Given the description of an element on the screen output the (x, y) to click on. 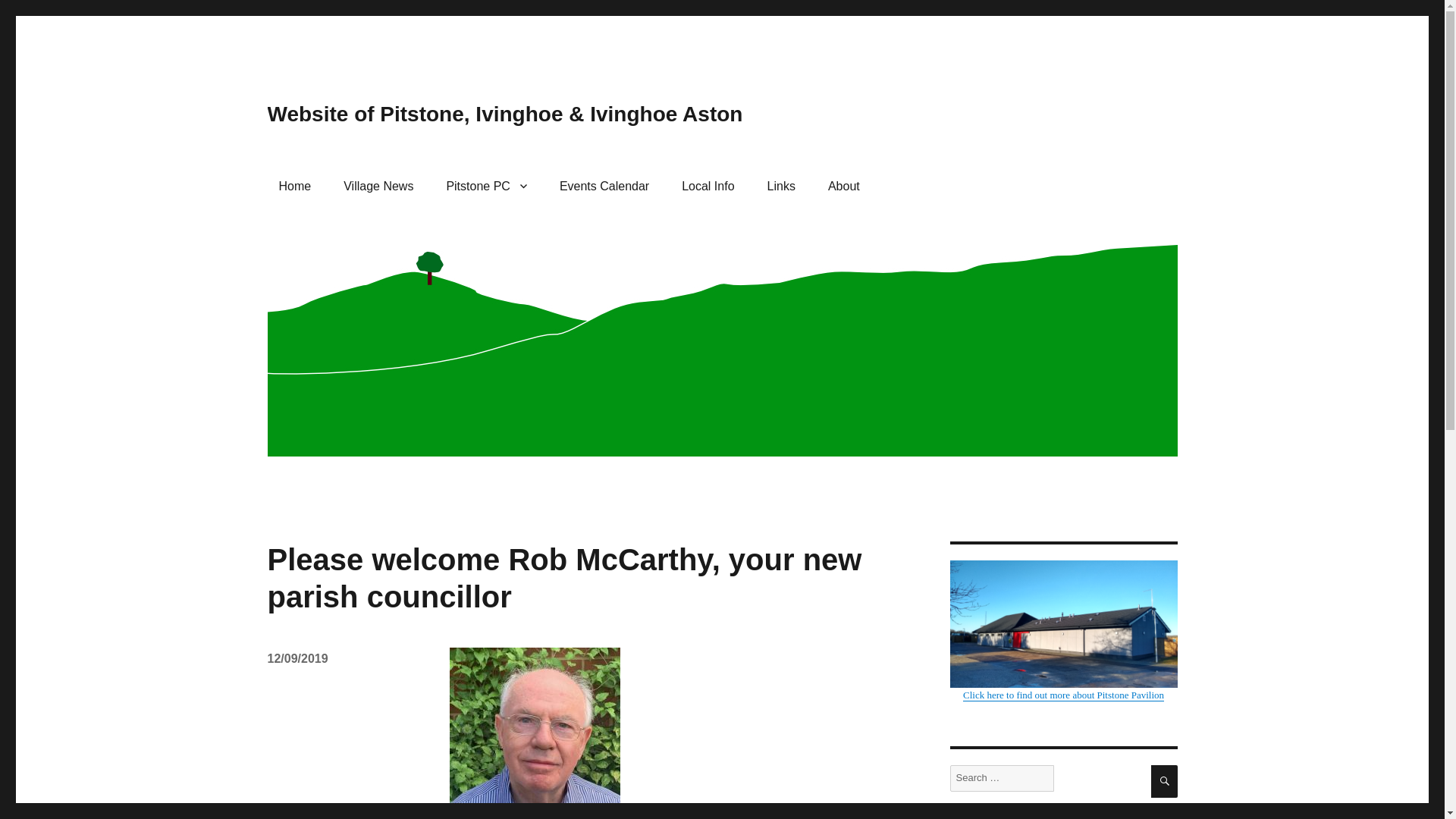
Pitstone Parish Council (486, 185)
Links (781, 185)
About (843, 185)
Click here to find out more about Pitstone Pavilion (1062, 630)
Village News (378, 185)
Events Calendar (603, 185)
Local Info (707, 185)
Pitstone PC (486, 185)
Home (294, 185)
